Given the description of an element on the screen output the (x, y) to click on. 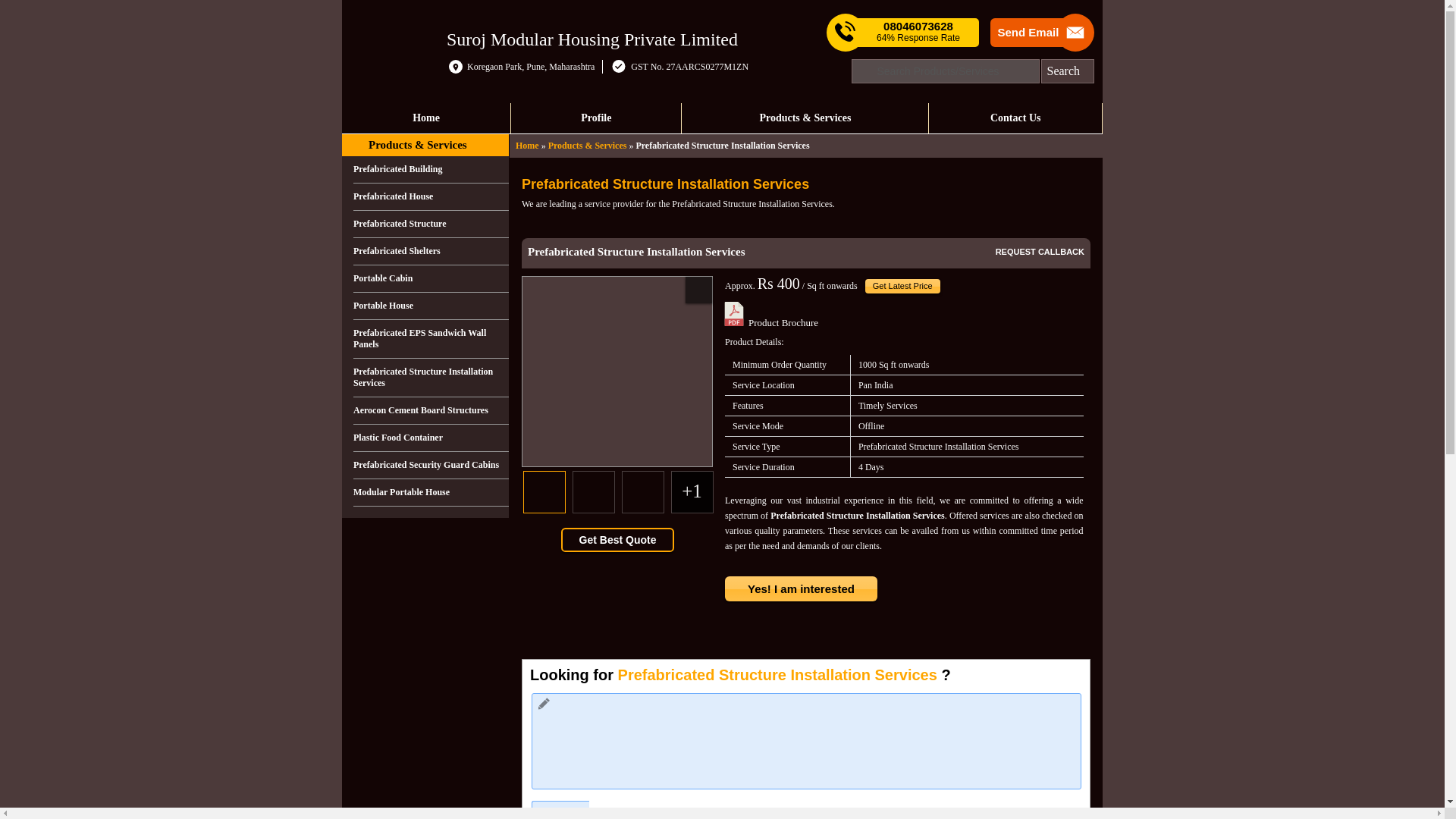
Prefabricated House (430, 196)
Contact Us (1015, 118)
Prefabricated EPS Sandwich Wall Panels (430, 339)
Prefabricated Building (430, 169)
Portable Cabin (430, 278)
Home (426, 118)
Prefabricated Shelters (430, 251)
Profile (596, 118)
Suroj Modular Housing Private Limited (592, 38)
Send SMS Free (917, 32)
Home (526, 145)
Portable House (430, 306)
Prefabricated Structure (430, 224)
